Given the description of an element on the screen output the (x, y) to click on. 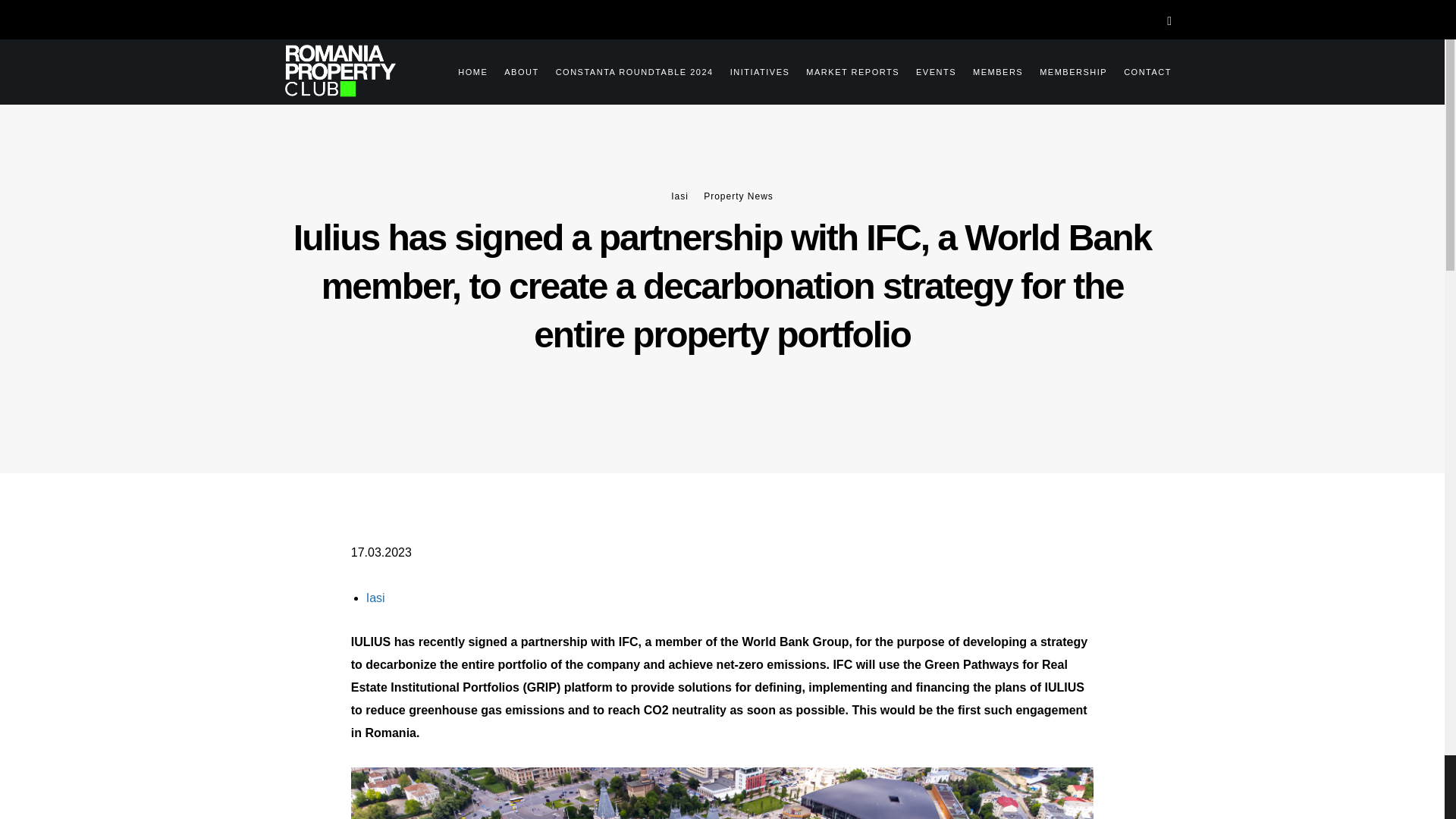
CONTACT (1139, 70)
Property News (738, 195)
CONSTANTA ROUNDTABLE 2024 (625, 70)
MEMBERS (989, 70)
Iasi (375, 597)
MARKET REPORTS (844, 70)
Iasi (679, 195)
MEMBERSHIP (1064, 70)
INITIATIVES (751, 70)
